Given the description of an element on the screen output the (x, y) to click on. 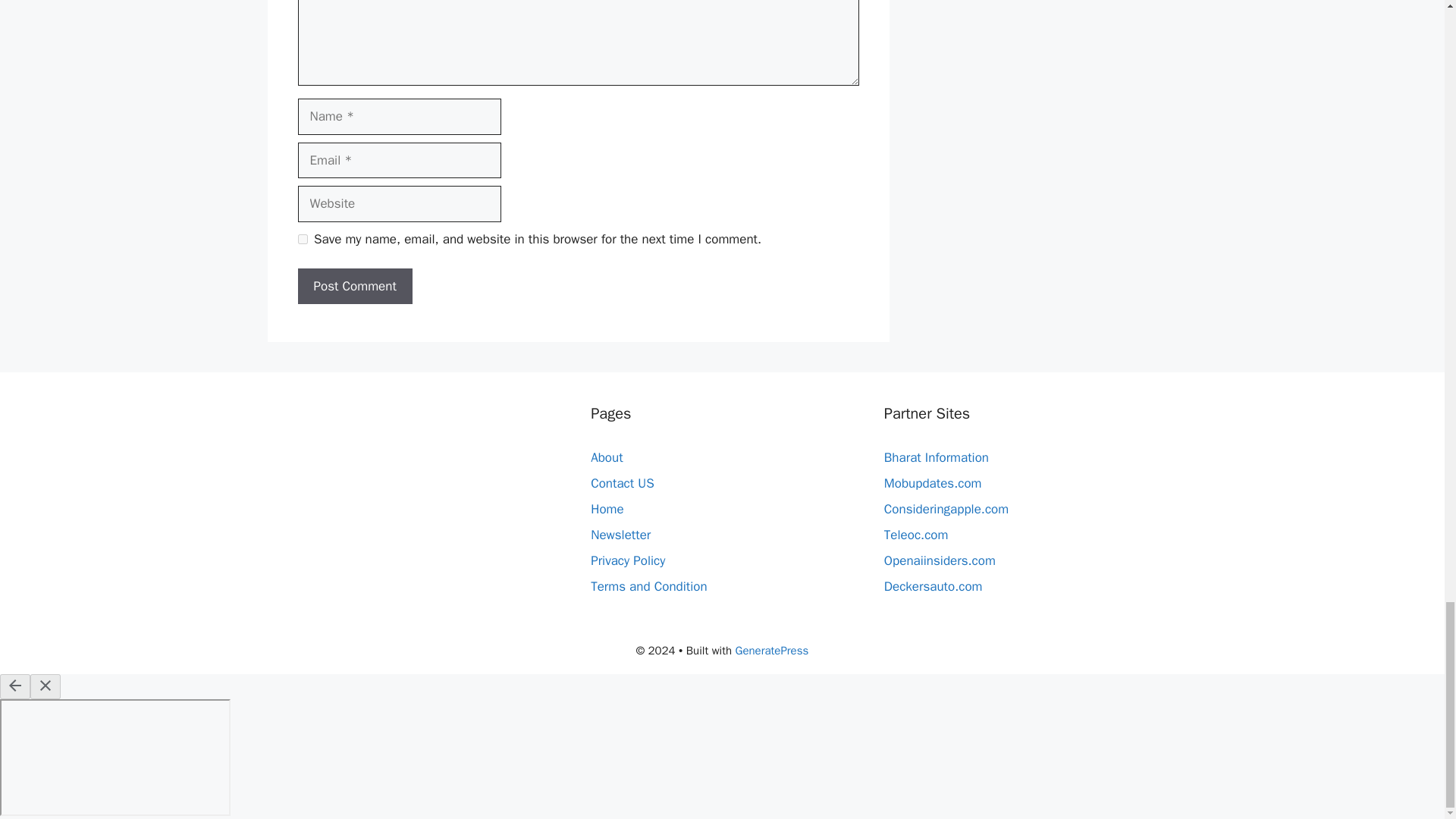
Post Comment (354, 286)
Newsletter (620, 534)
About (607, 457)
Post Comment (354, 286)
yes (302, 239)
Openaiinsiders.com (939, 560)
Consideringapple.com (946, 508)
Contact US (622, 483)
Terms and Condition (648, 586)
Teleoc.com (916, 534)
Bharat Information (935, 457)
Home (607, 508)
Mobupdates.com (932, 483)
Privacy Policy (628, 560)
